Given the description of an element on the screen output the (x, y) to click on. 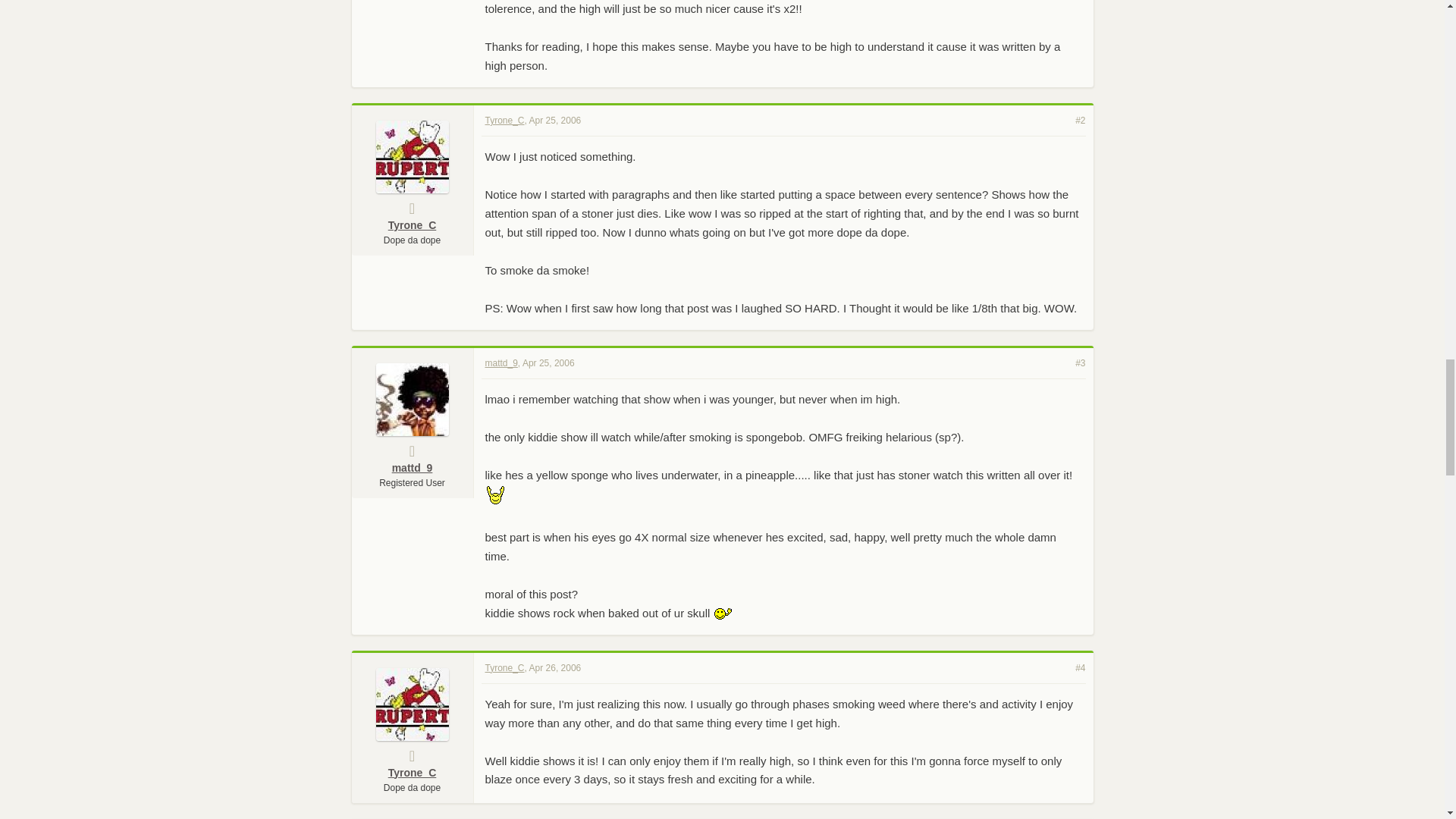
Permalink (554, 120)
